Given the description of an element on the screen output the (x, y) to click on. 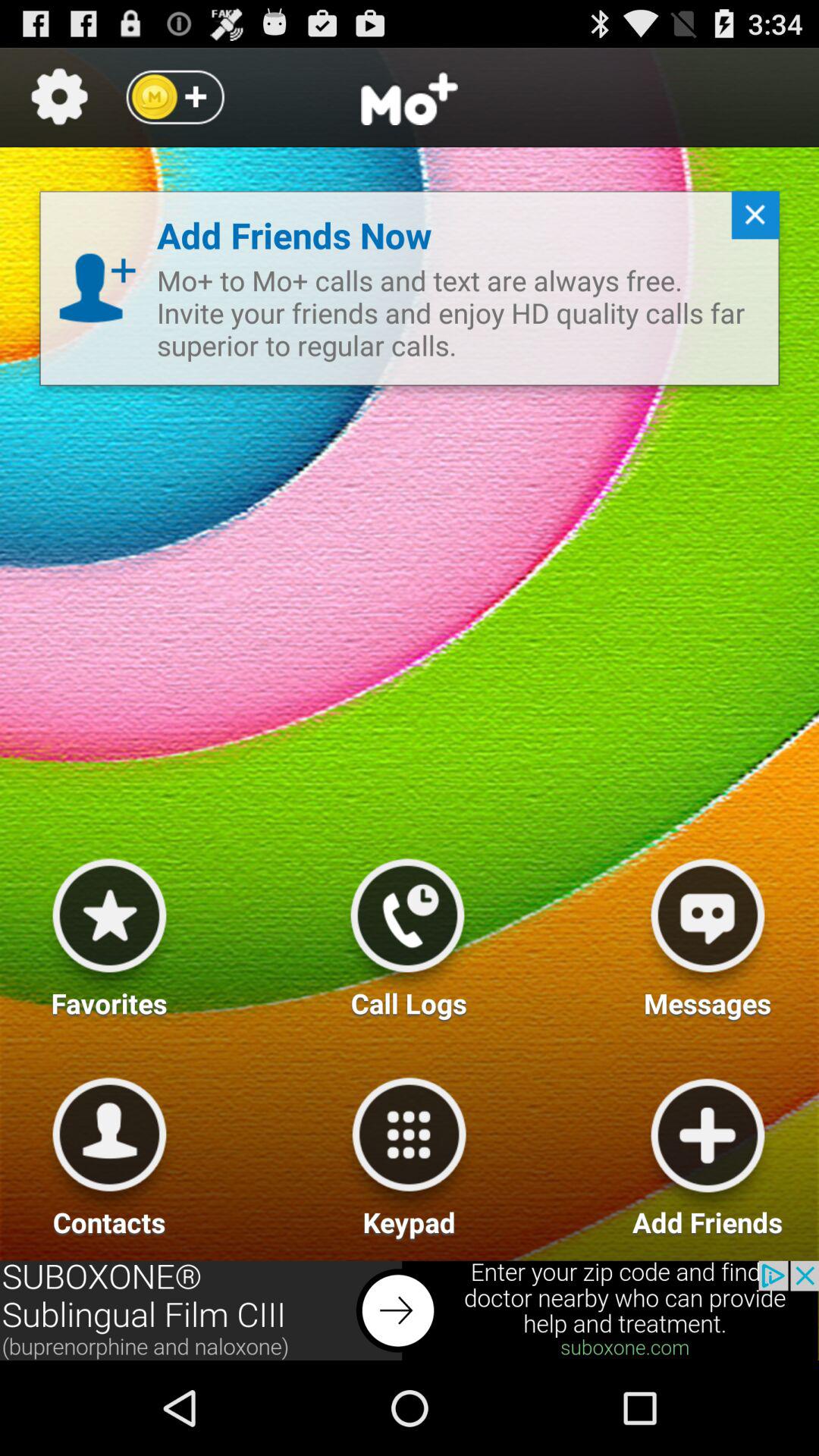
visit advertisement website (409, 1310)
